Given the description of an element on the screen output the (x, y) to click on. 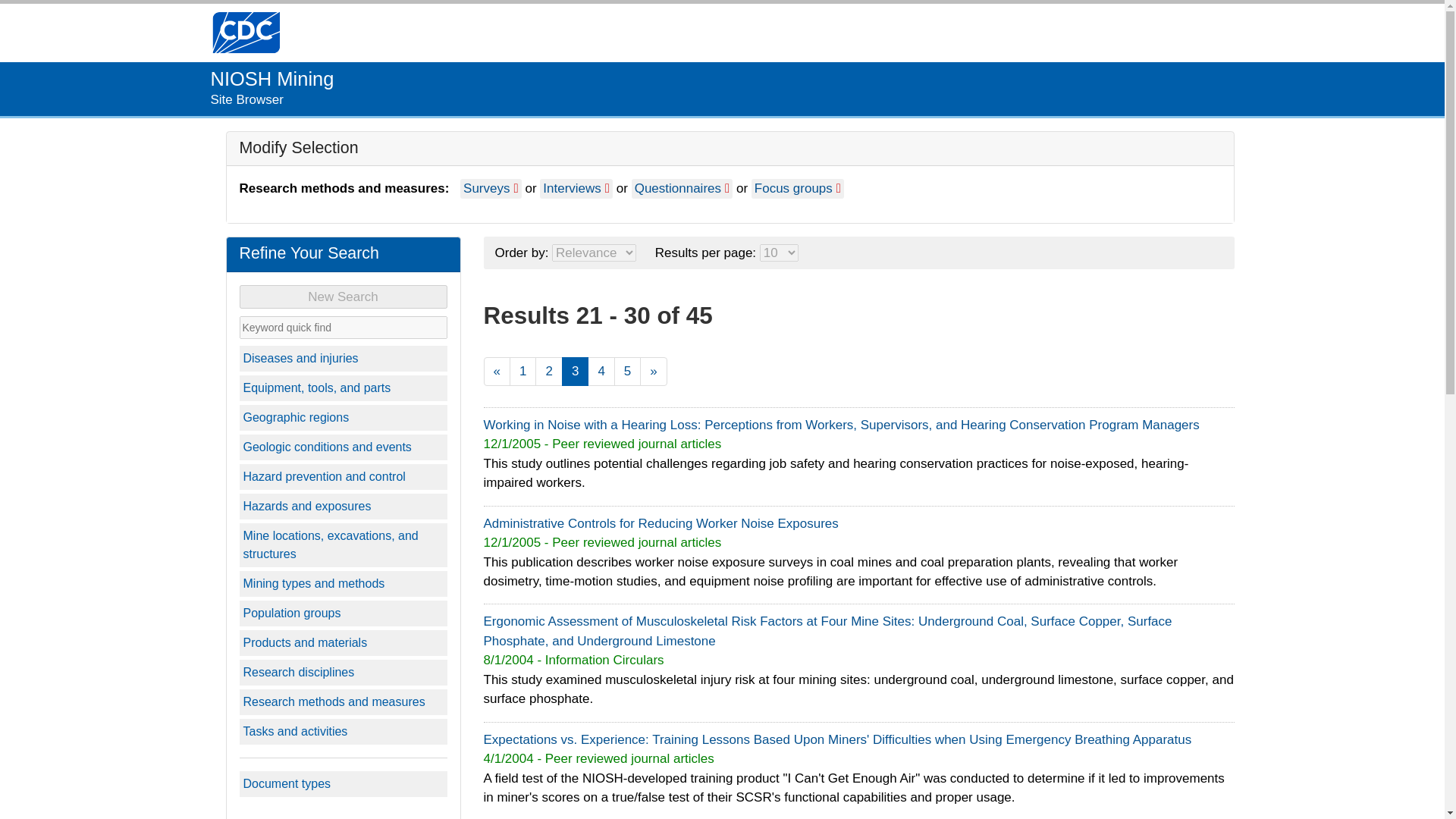
New Search (343, 297)
Equipment, tools, and parts (343, 388)
Document types (343, 783)
Focus groups (797, 188)
Hazards and exposures (343, 506)
Geographic regions (343, 417)
Disorders in the structure or functioning of the human body. (343, 358)
Mining methods, by type of extraction or commodity. (343, 583)
Hazard prevention and control (343, 476)
